Given the description of an element on the screen output the (x, y) to click on. 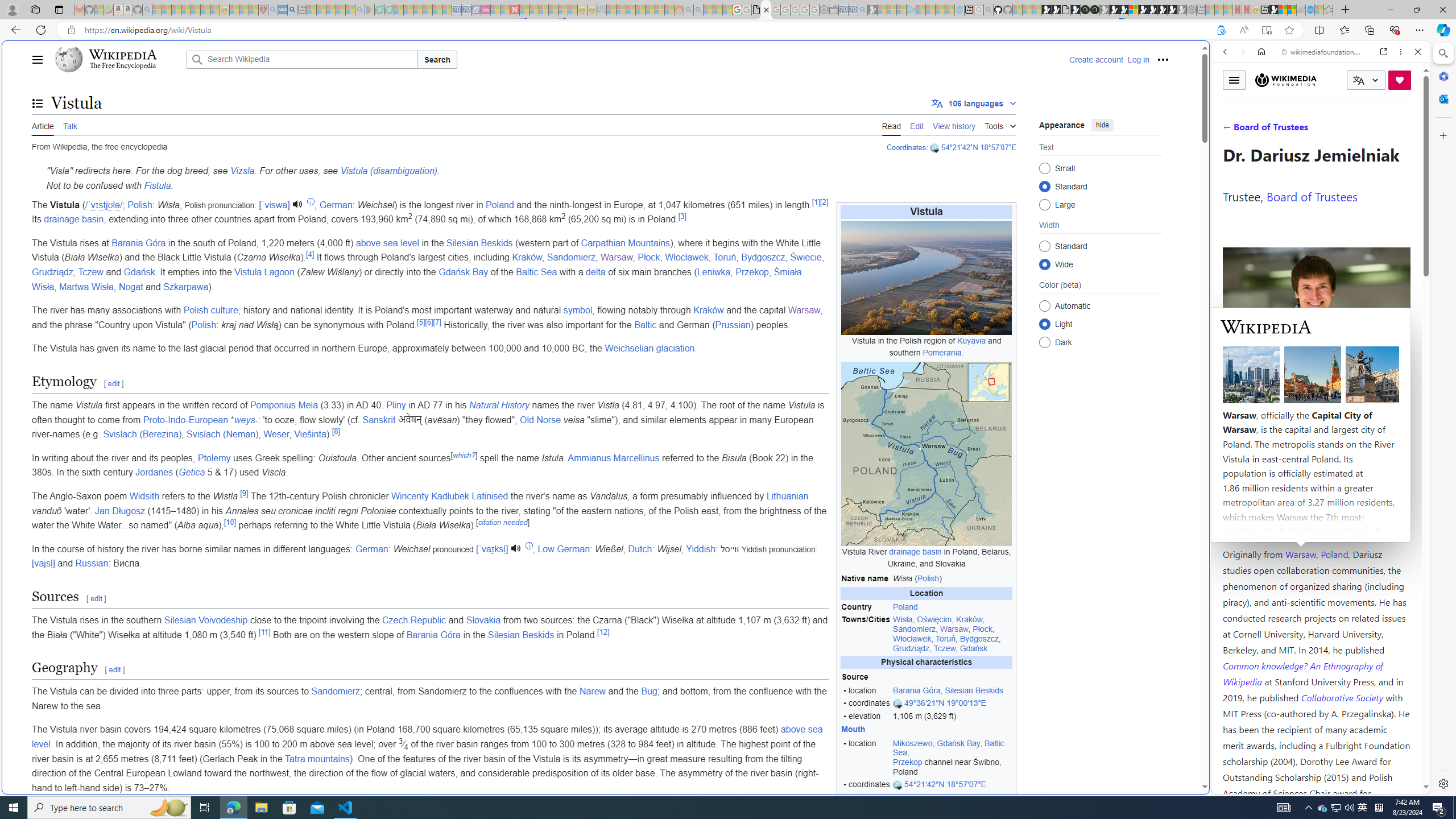
Sanskrit (379, 419)
Show location on an interactive map (898, 785)
Play audio (516, 548)
Preferences (1403, 129)
Create account (1095, 58)
Kozminski University (1316, 486)
Future Focus Report 2024 (1094, 9)
Web scope (1230, 102)
utah sues federal government - Search (922, 389)
